Given the description of an element on the screen output the (x, y) to click on. 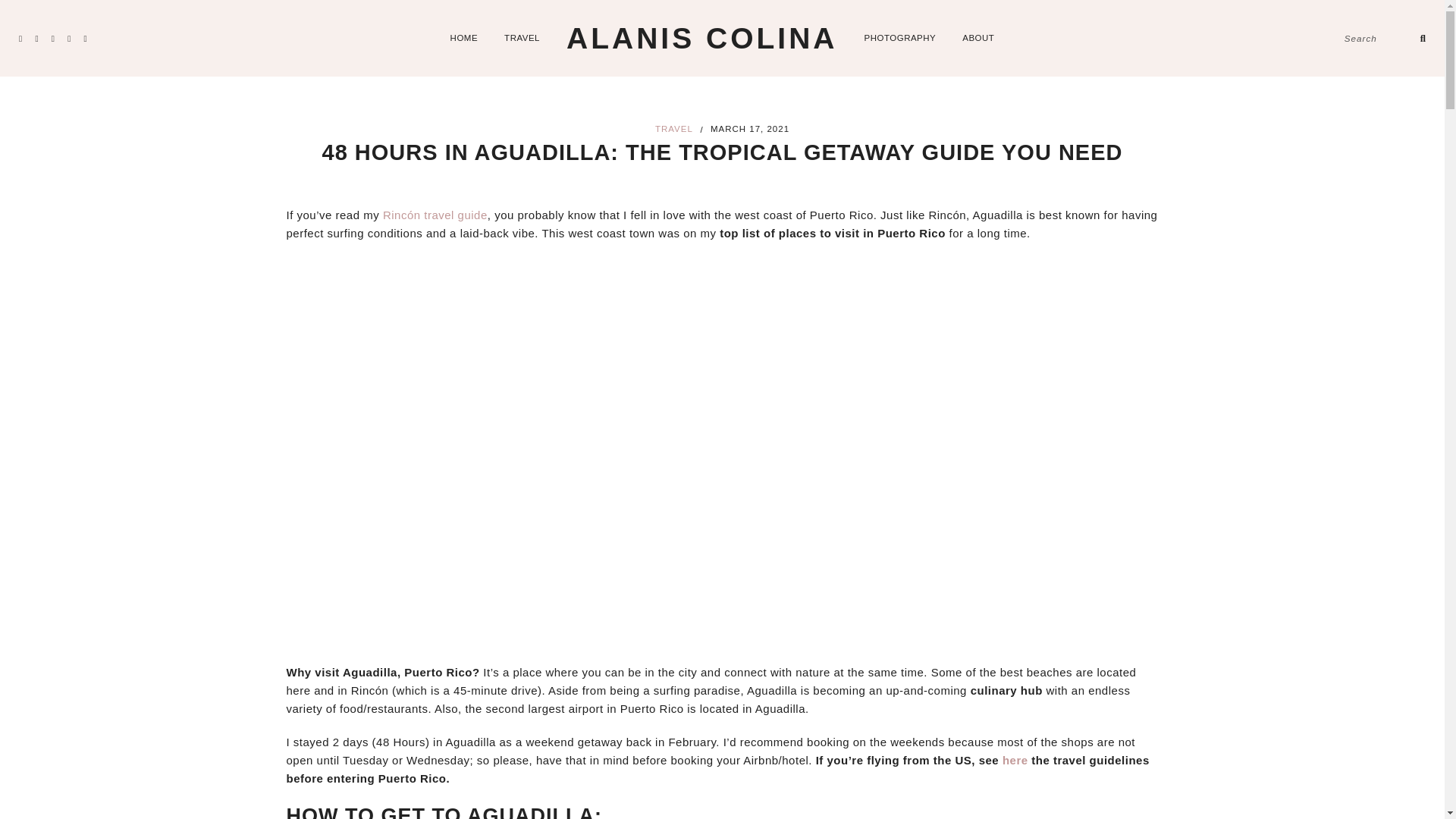
PHOTOGRAPHY (900, 37)
ABOUT (978, 37)
TRAVEL (521, 37)
ALANIS COLINA (702, 38)
HOME (464, 37)
MARCH 17, 2021 (749, 127)
TRAVEL (674, 128)
here (1016, 759)
